Given the description of an element on the screen output the (x, y) to click on. 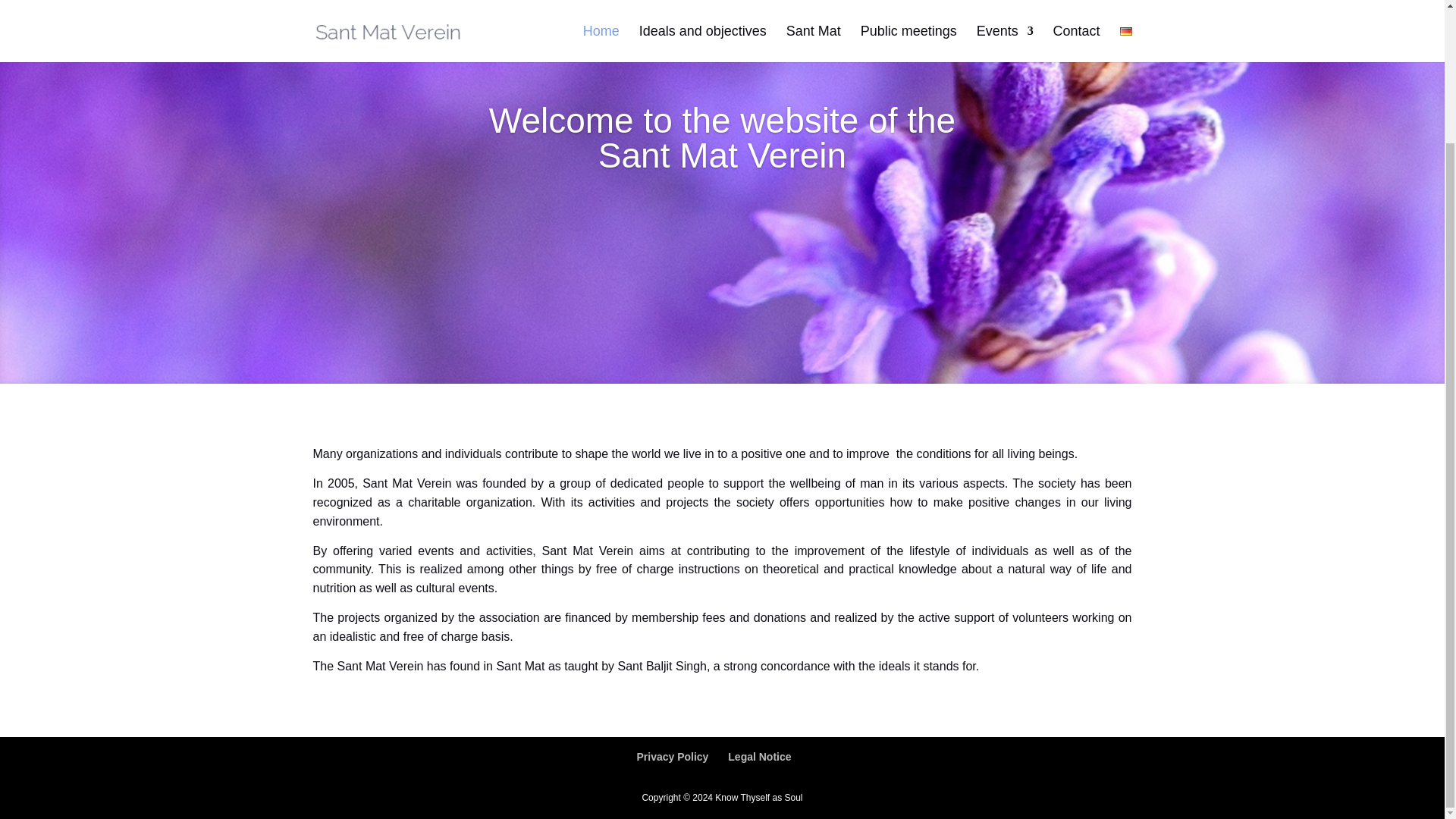
Privacy Policy (671, 756)
Legal Notice (759, 756)
